Given the description of an element on the screen output the (x, y) to click on. 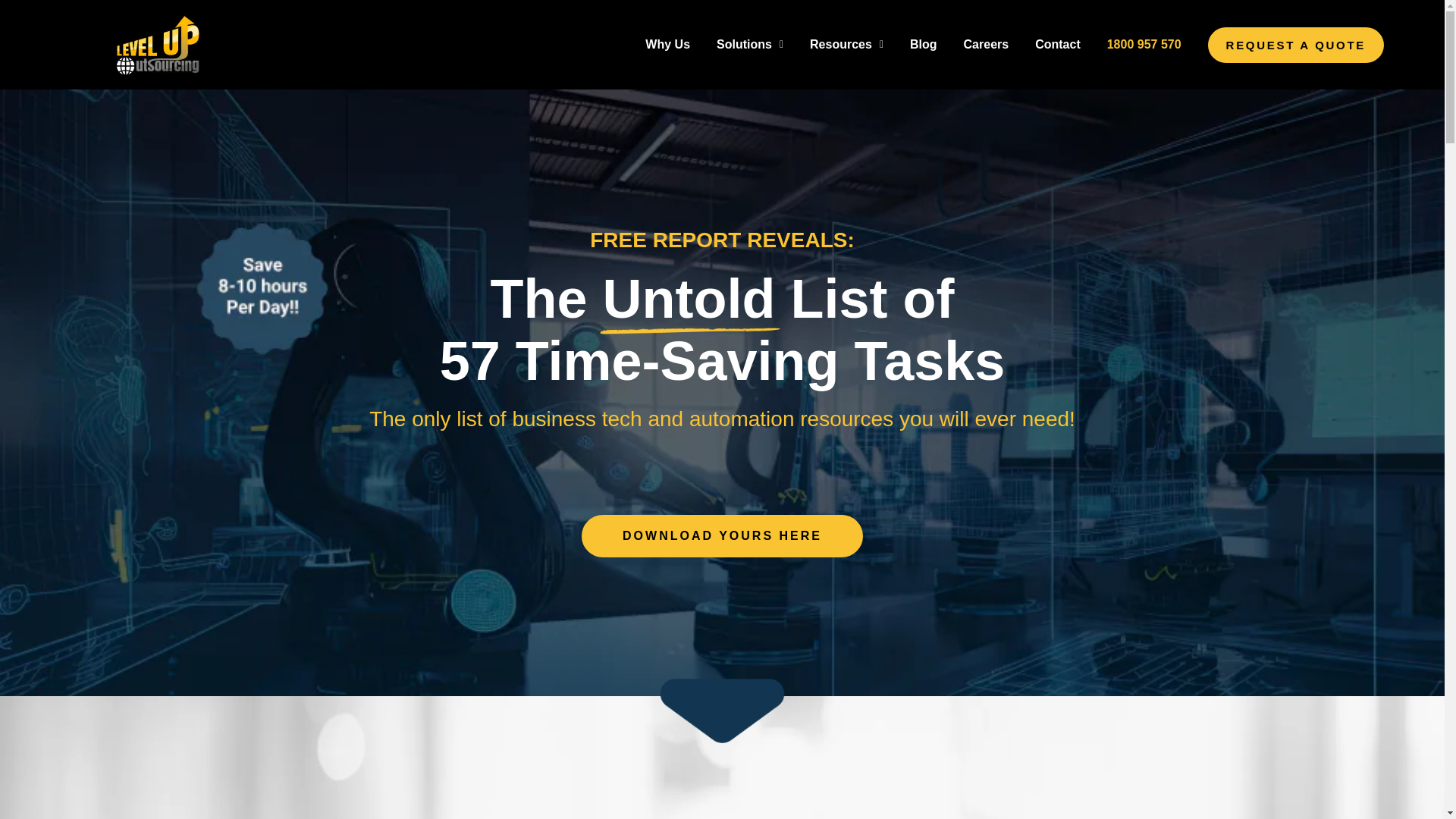
DOWNLOAD YOURS HERE (721, 536)
Solutions (749, 44)
Contact (1057, 44)
Careers (986, 44)
REQUEST A QUOTE (1296, 45)
Resources (846, 44)
Why Us (667, 44)
1800 957 570 (1143, 44)
